Given the description of an element on the screen output the (x, y) to click on. 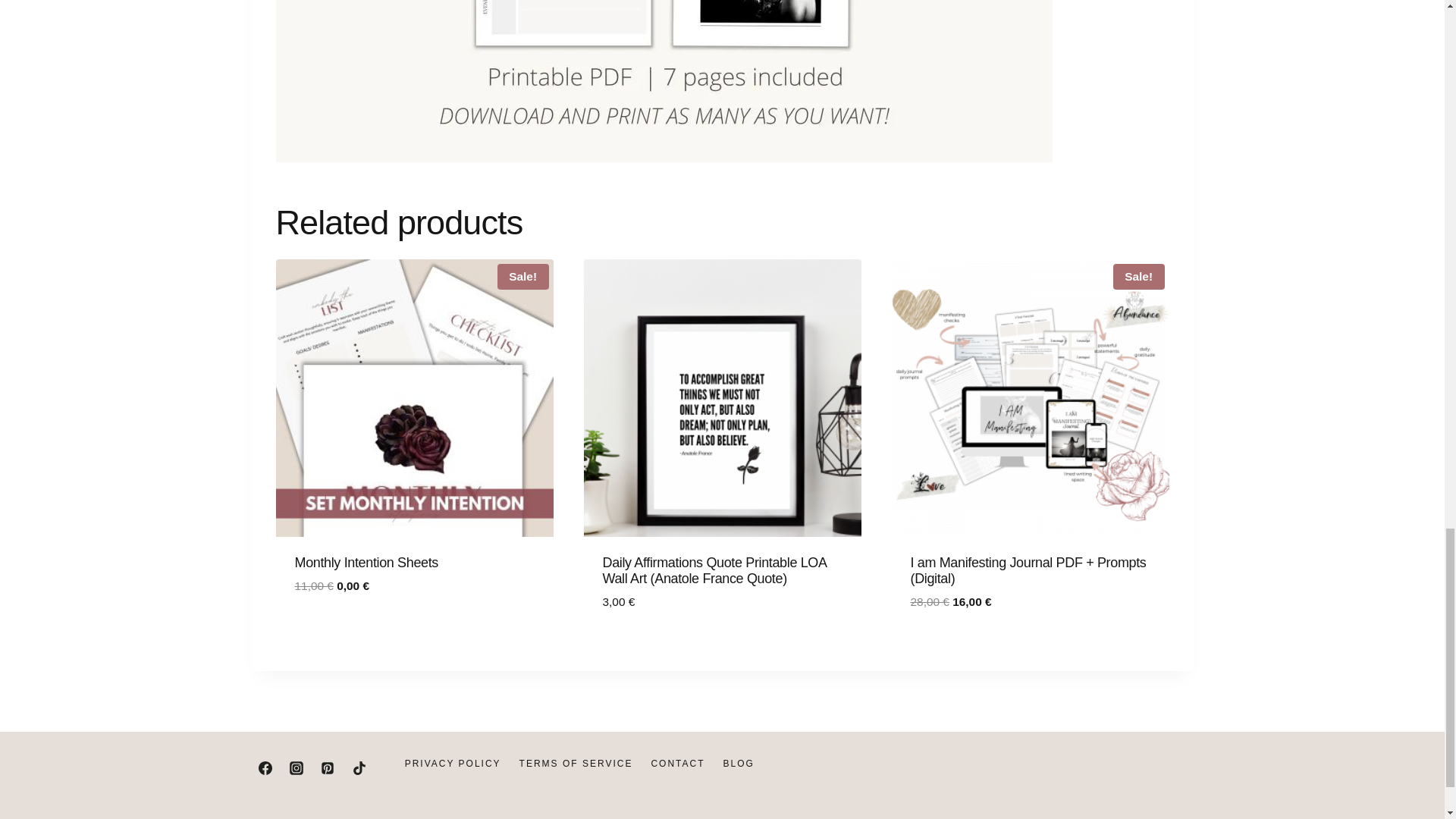
Sale! (414, 398)
